Given the description of an element on the screen output the (x, y) to click on. 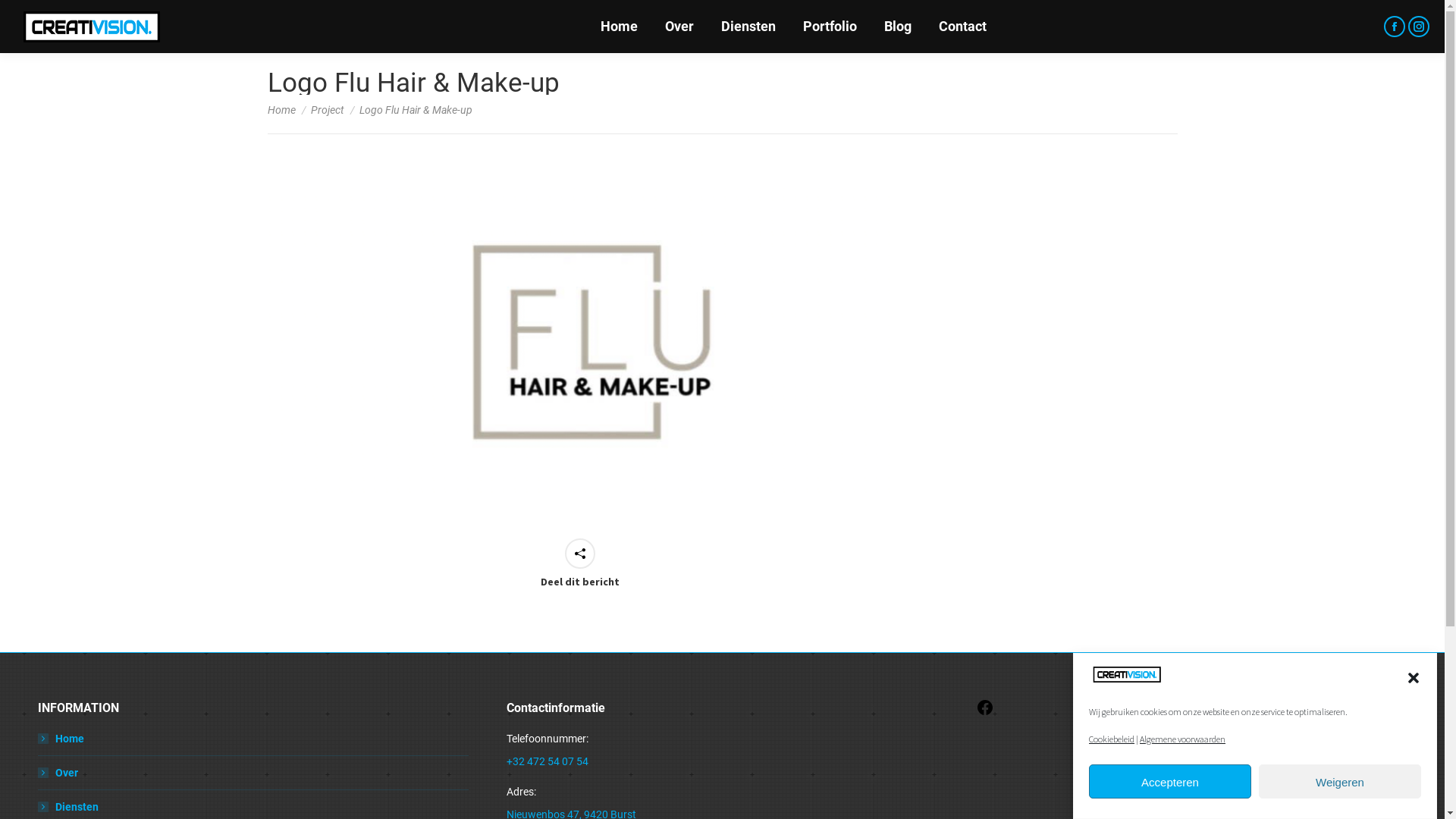
Over Element type: text (678, 26)
Facebook Element type: text (984, 712)
Facebook page opens in new window Element type: text (1394, 25)
Weigeren Element type: text (1339, 782)
Home Element type: text (60, 738)
Over Element type: text (57, 771)
Blog Element type: text (897, 26)
Portfolio Element type: text (829, 26)
Diensten Element type: text (747, 26)
Cookiebeleid Element type: text (1111, 738)
Algemene voorwaarden Element type: text (1182, 738)
Home Element type: text (280, 109)
Contact Element type: text (962, 26)
Instagram page opens in new window Element type: text (1418, 25)
Home Element type: text (618, 26)
Project Element type: text (327, 109)
Accepteren Element type: text (1169, 782)
Diensten Element type: text (67, 806)
